Given the description of an element on the screen output the (x, y) to click on. 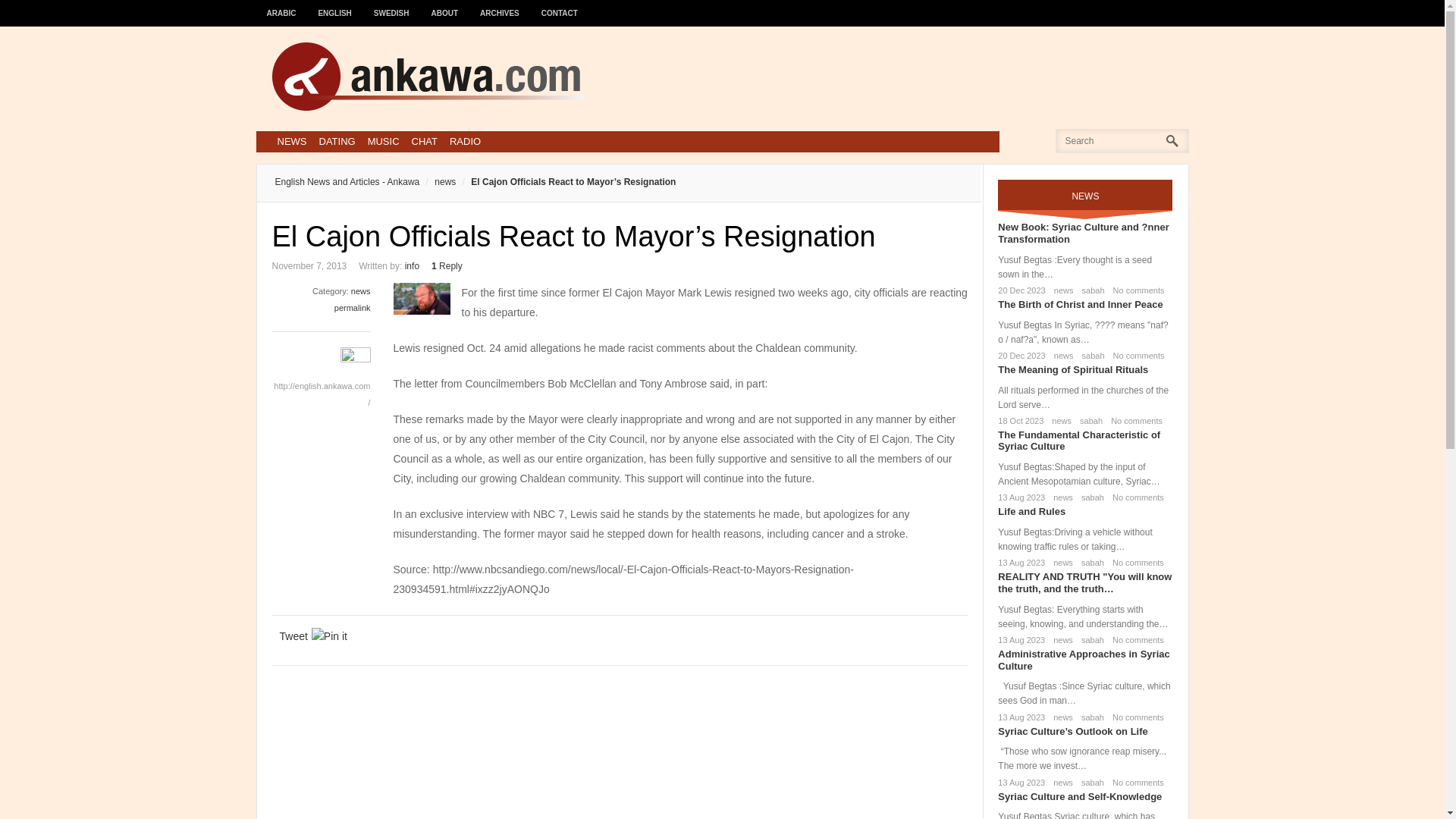
ARABIC (281, 5)
Administrative Approaches in Syriac Culture (1083, 659)
No comments (1135, 355)
info (411, 266)
news (1058, 420)
NEWS (291, 141)
permalink (352, 307)
Life and Rules (1031, 511)
1 Reply (446, 266)
The Meaning of Spiritual Rituals (1072, 369)
No comments (1133, 420)
English News and Articles - Ankawa (347, 181)
The Birth of Christ and Inner Peace (1079, 304)
ARCHIVES (499, 5)
